Given the description of an element on the screen output the (x, y) to click on. 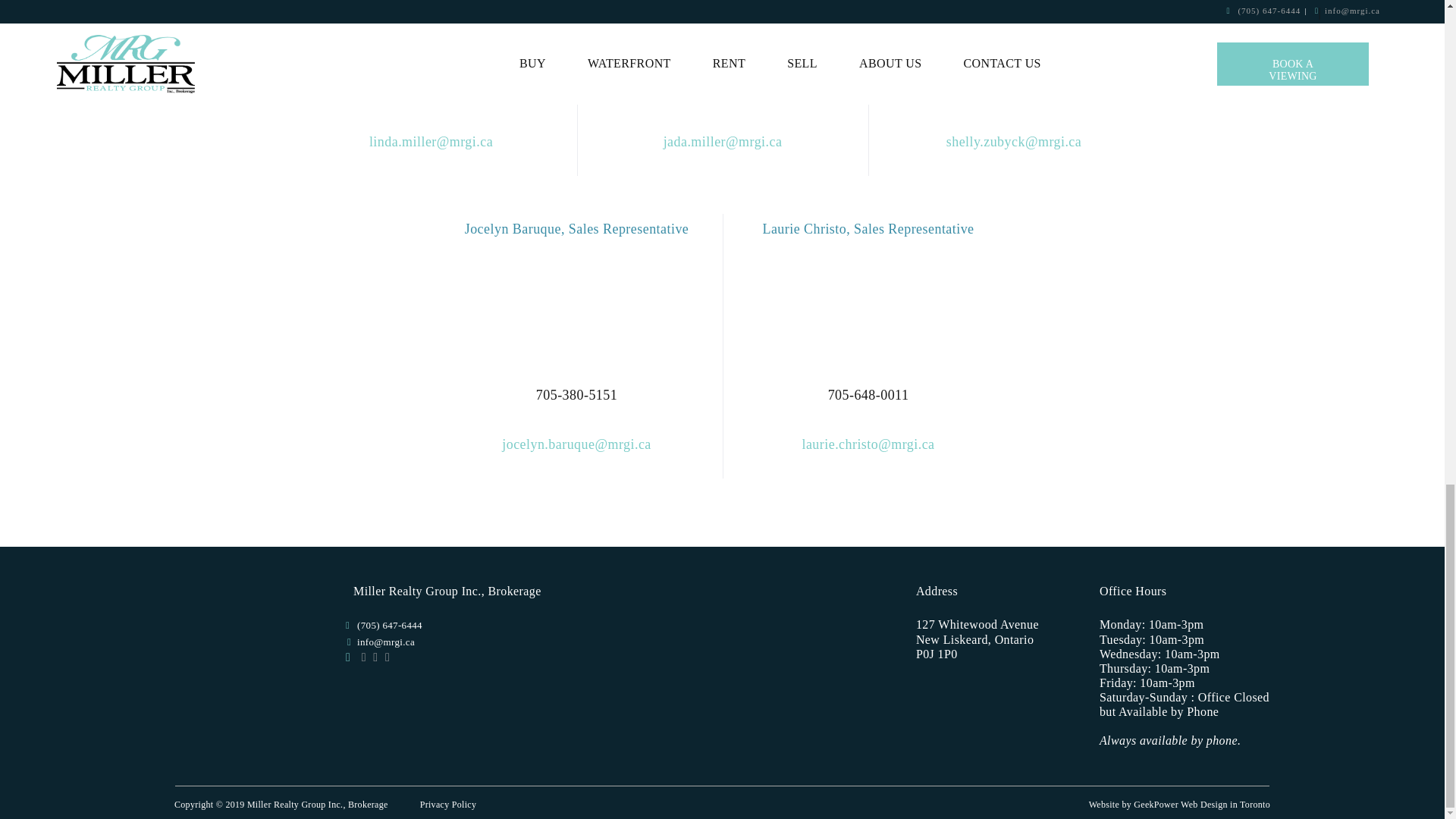
Web Design in Toronto (1224, 804)
Privacy Policy (448, 804)
